Given the description of an element on the screen output the (x, y) to click on. 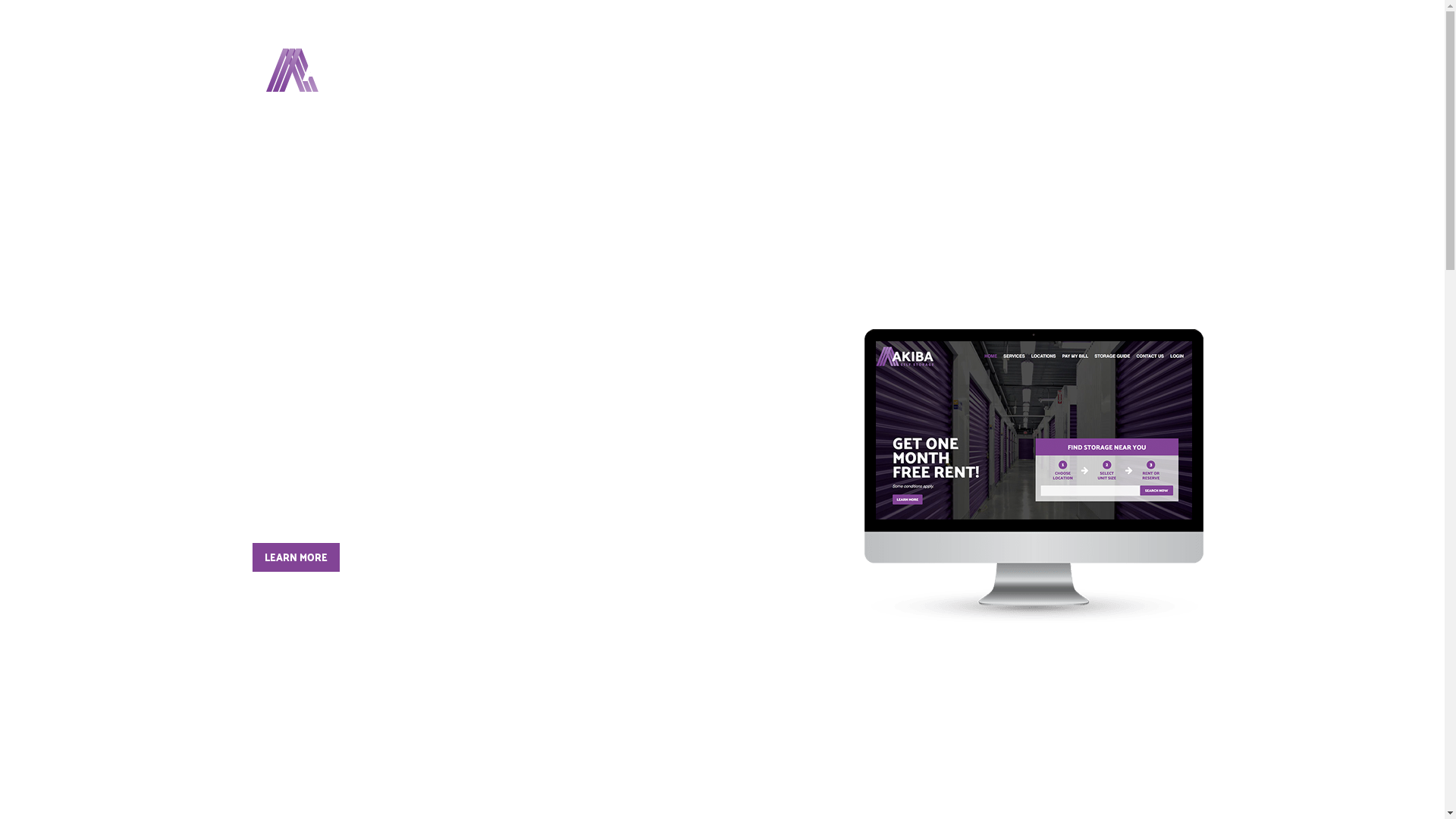
SUPPORT Element type: text (1117, 70)
CONTACT Element type: text (1040, 70)
FEATURES Element type: text (595, 70)
PRICING Element type: text (967, 70)
LEARN MORE Element type: text (294, 556)
DEMO Element type: text (906, 70)
INTERNET MARKETING Element type: text (800, 70)
PRODUCTS Element type: text (680, 70)
